Given the description of an element on the screen output the (x, y) to click on. 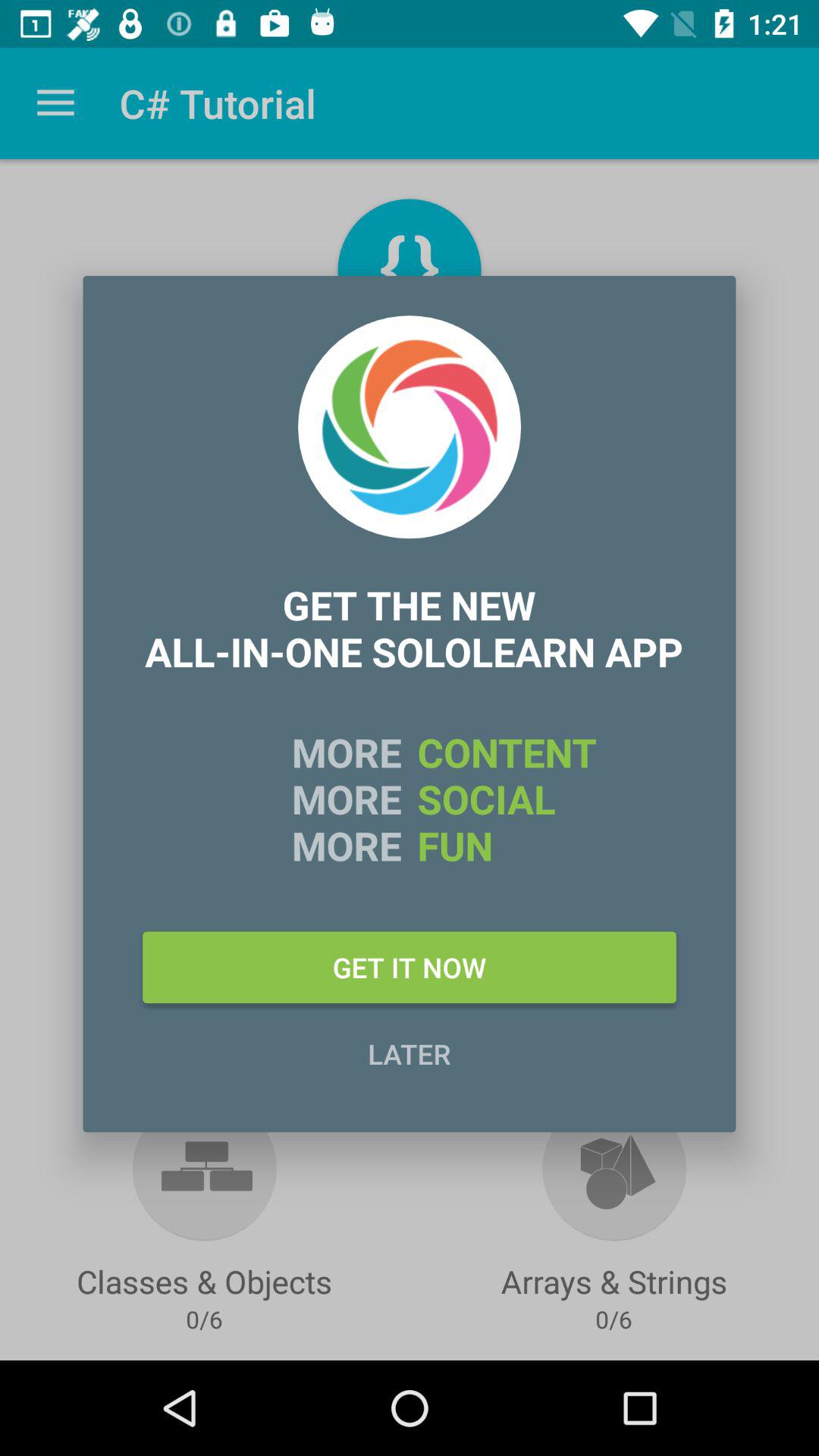
scroll until the later (409, 1053)
